Given the description of an element on the screen output the (x, y) to click on. 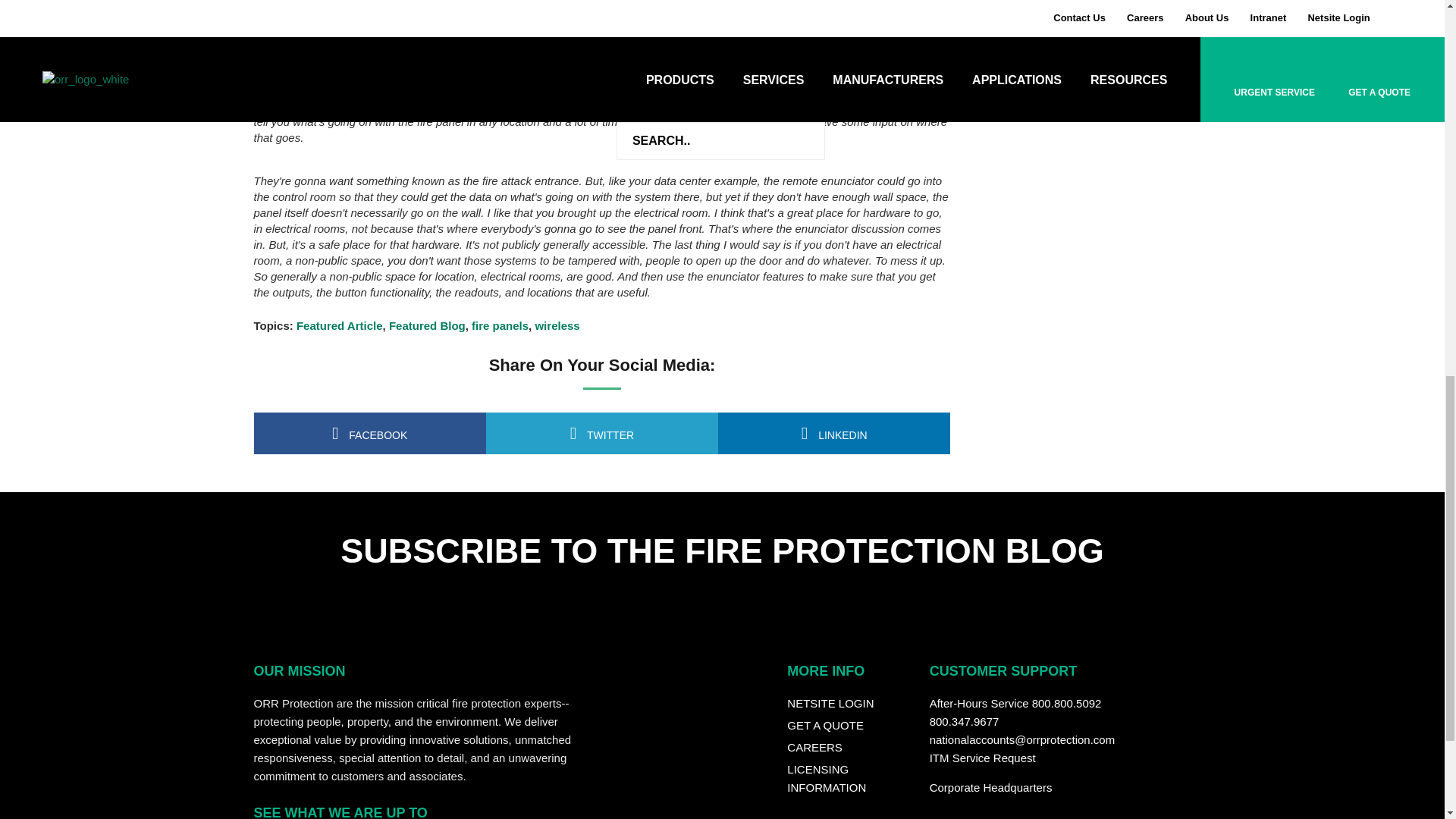
Tweet (601, 433)
Share on Facebook (368, 433)
Share on LinkedIn (833, 433)
